Given the description of an element on the screen output the (x, y) to click on. 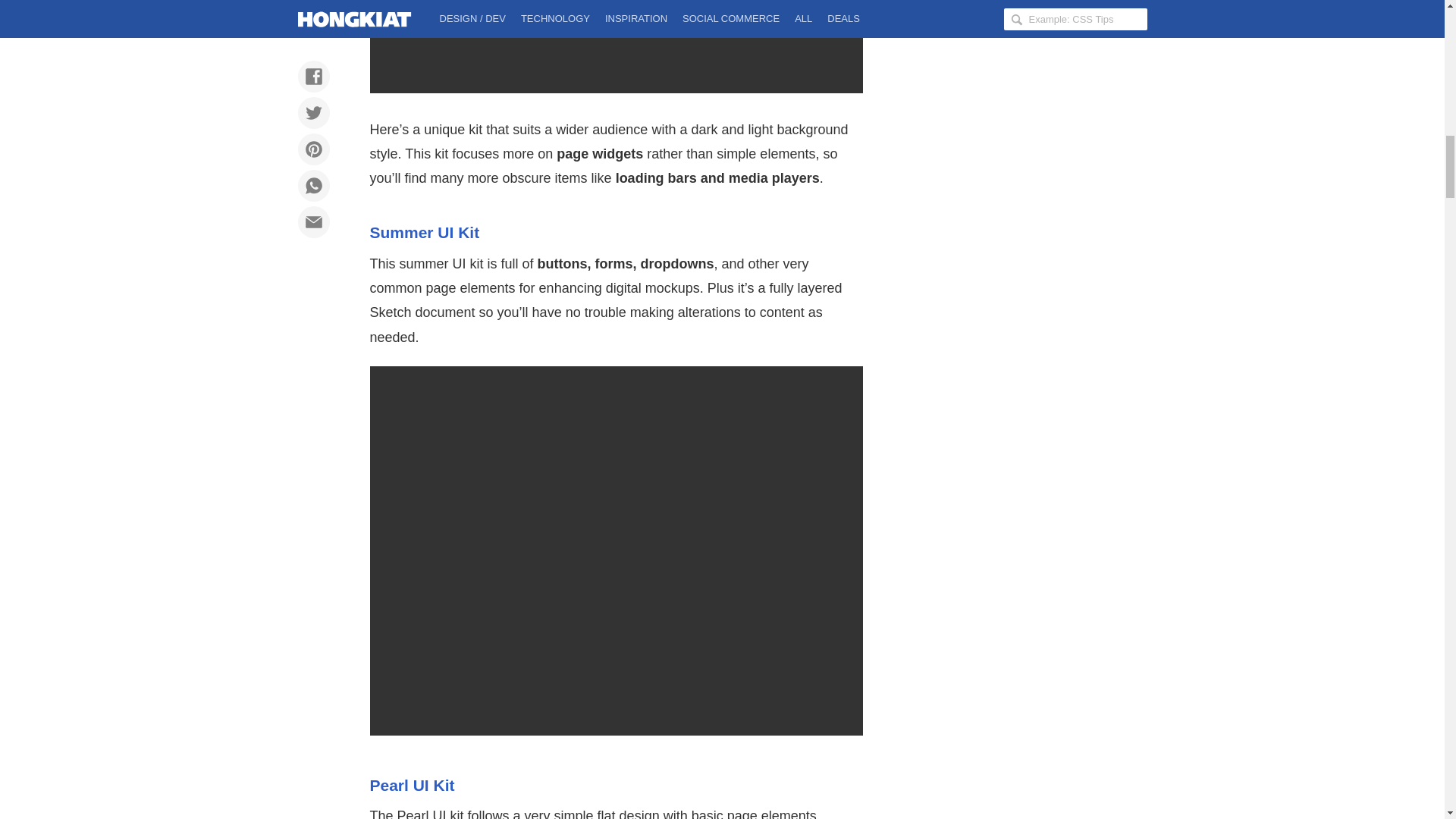
Pearl UI Kit (411, 784)
Summer UI Kit (424, 231)
